Given the description of an element on the screen output the (x, y) to click on. 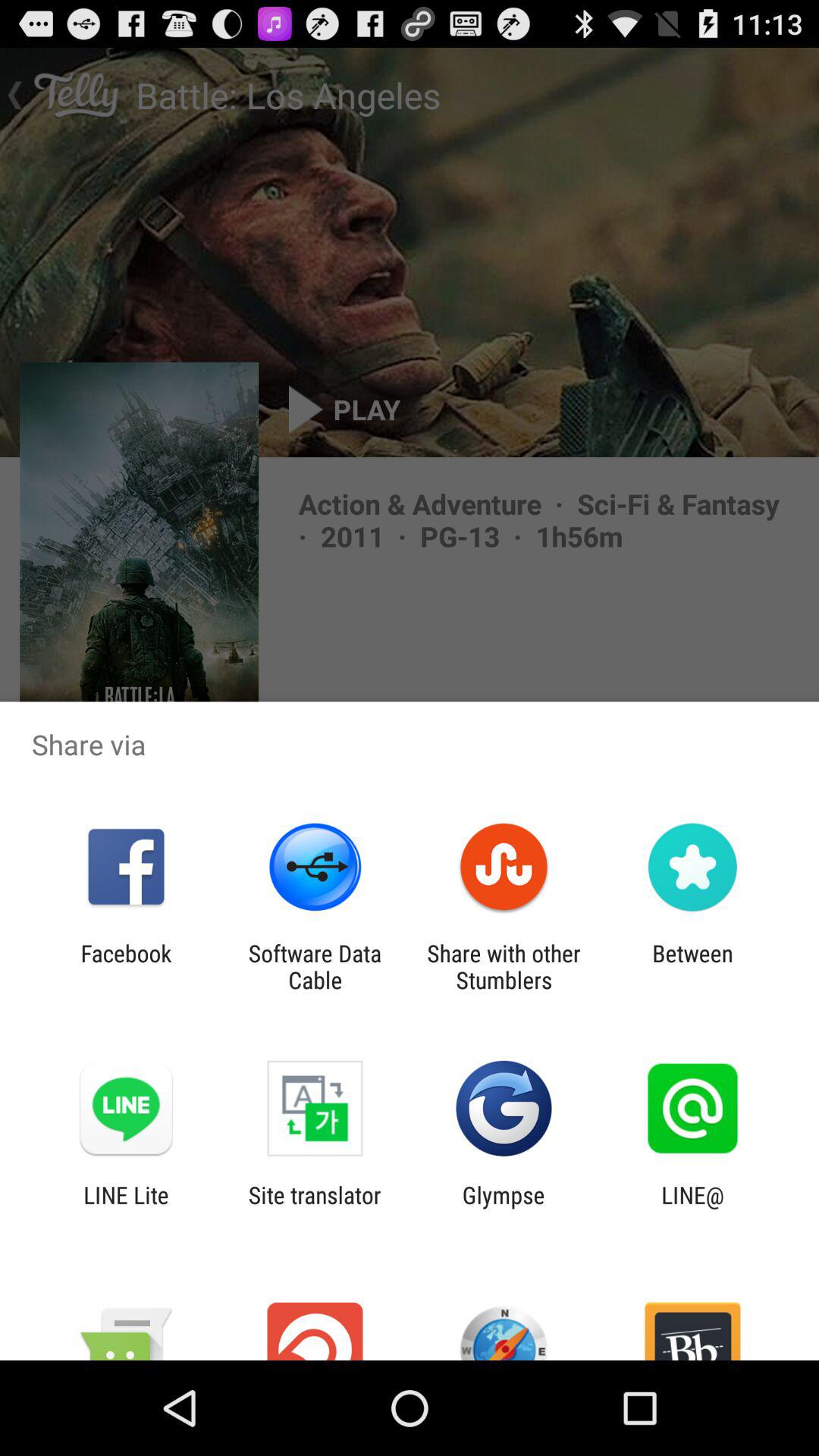
choose item next to site translator item (125, 1208)
